Given the description of an element on the screen output the (x, y) to click on. 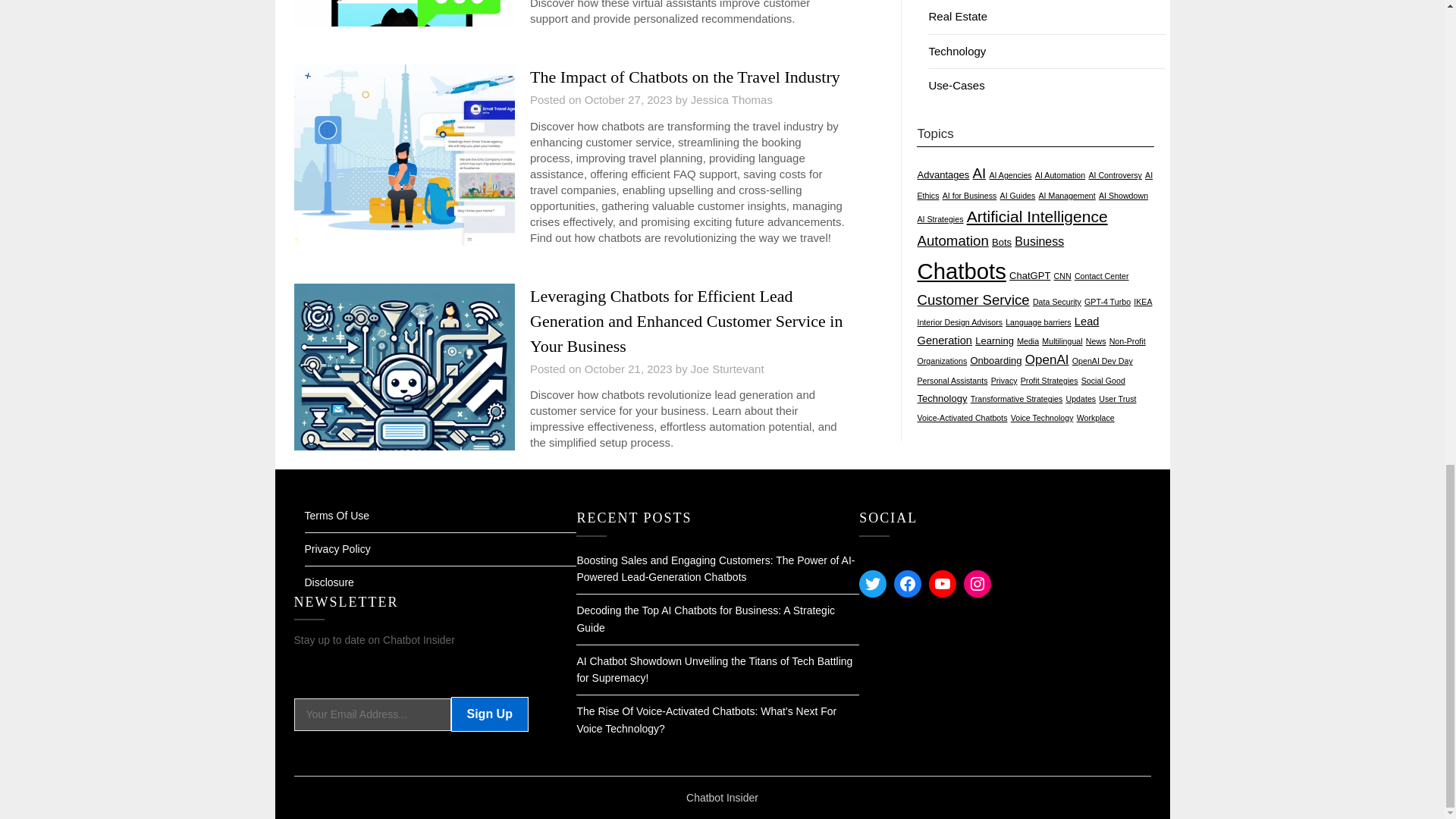
October 27, 2023 (628, 99)
Jessica Thomas (731, 99)
The Impact of Chatbots on the Travel Industry (684, 76)
October 21, 2023 (628, 368)
Joe Sturtevant (727, 368)
